Given the description of an element on the screen output the (x, y) to click on. 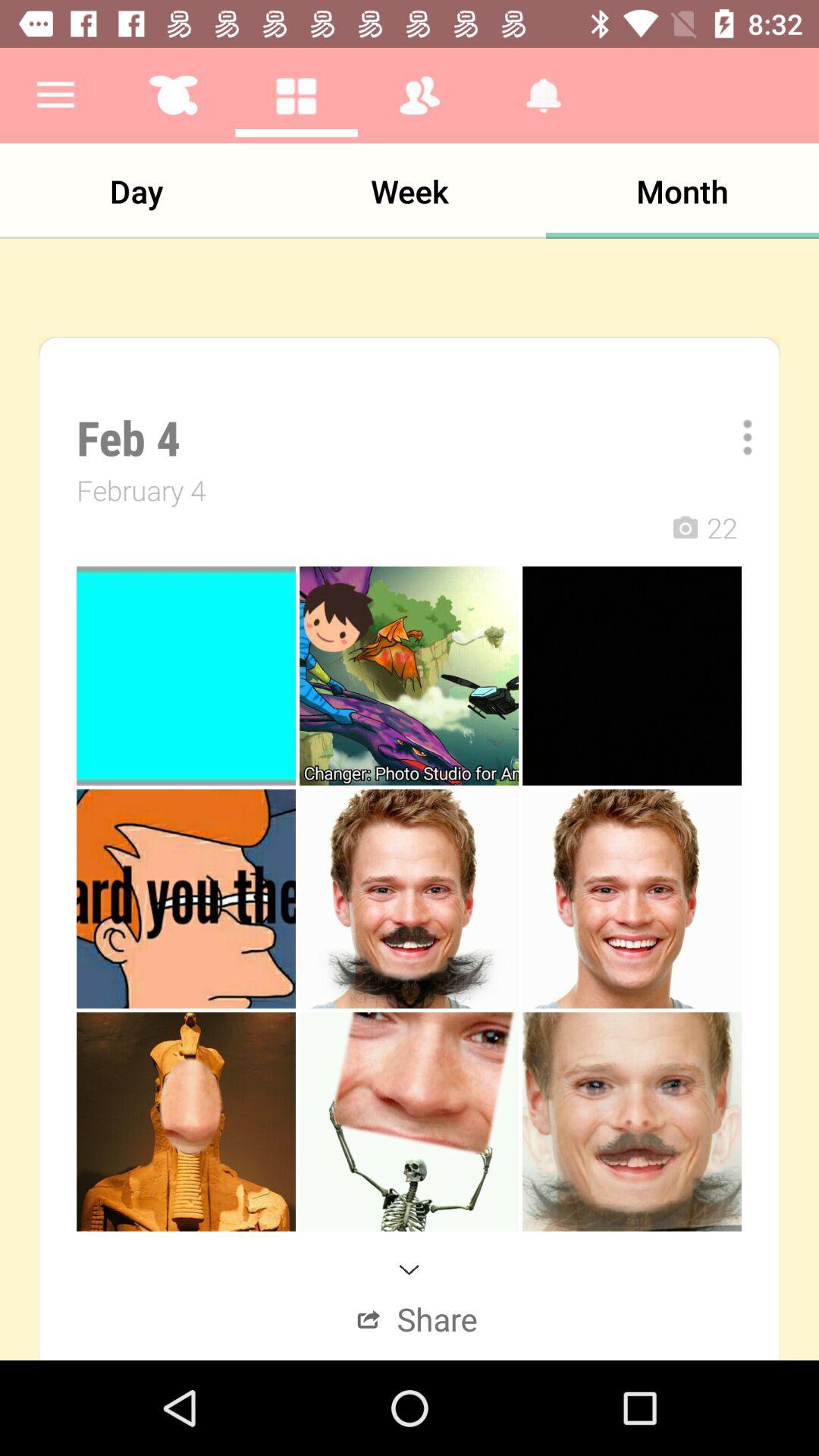
jump to week app (409, 190)
